Given the description of an element on the screen output the (x, y) to click on. 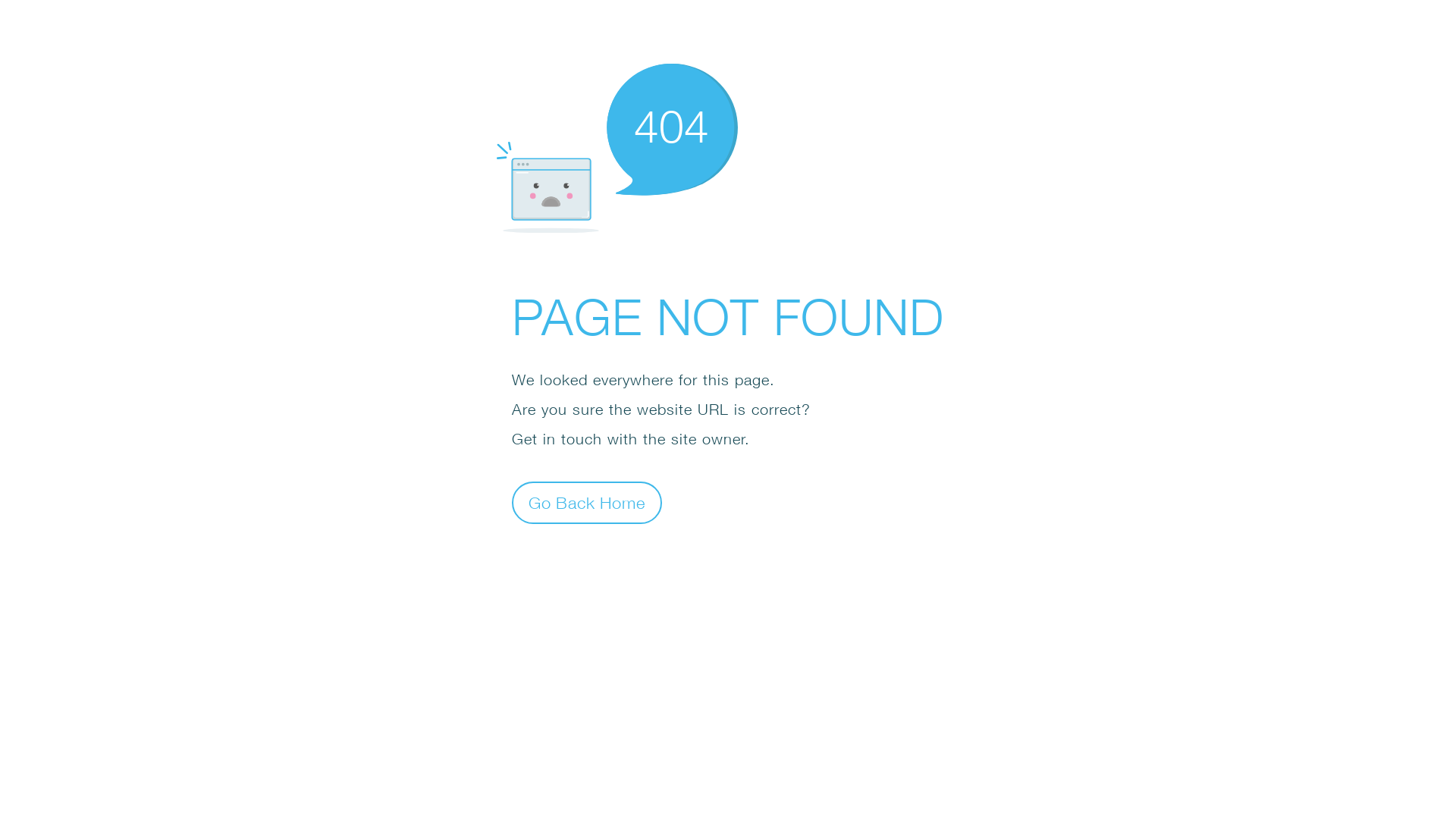
Go Back Home Element type: text (586, 502)
